Given the description of an element on the screen output the (x, y) to click on. 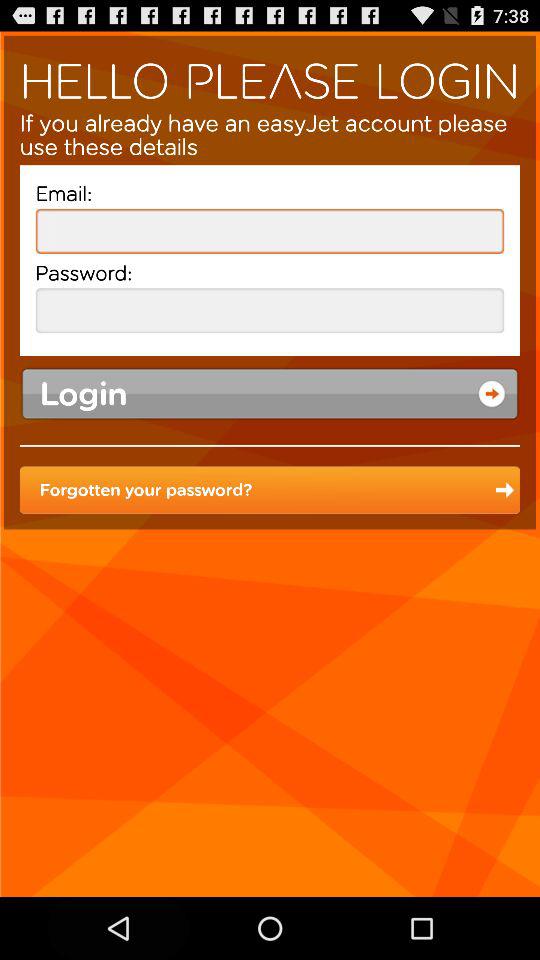
enter your email (269, 230)
